Given the description of an element on the screen output the (x, y) to click on. 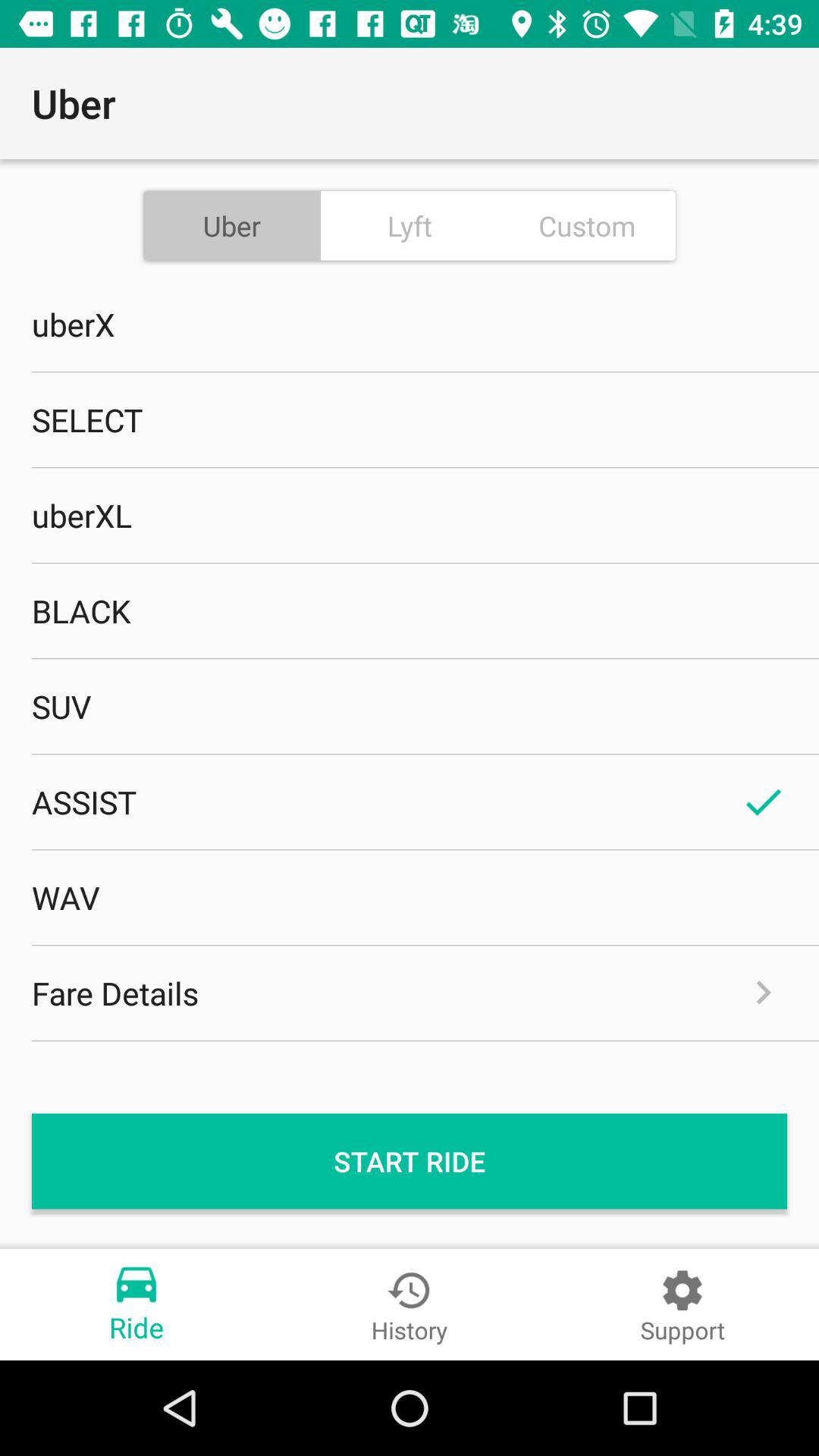
turn off select (409, 419)
